Given the description of an element on the screen output the (x, y) to click on. 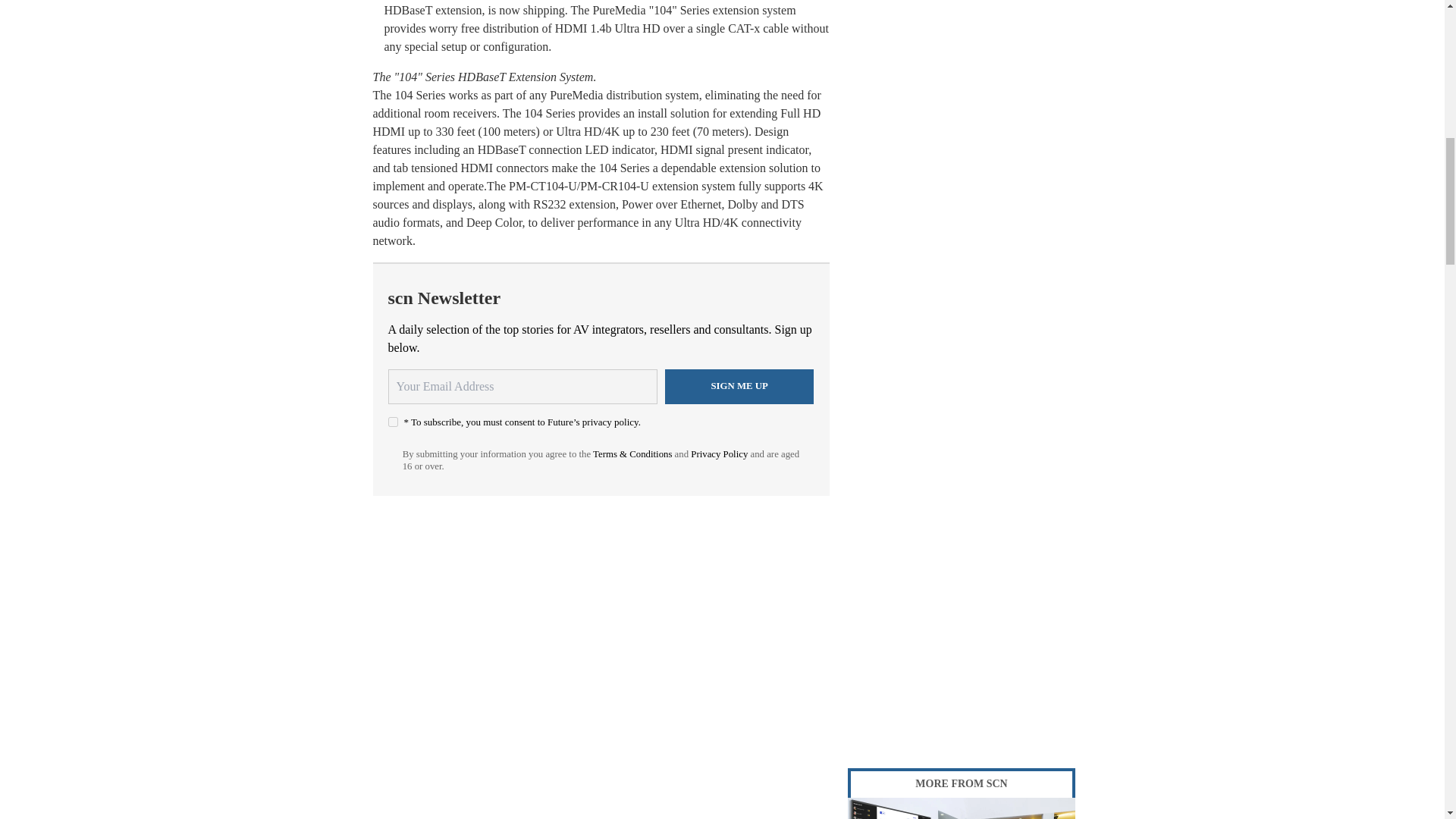
on (392, 421)
Privacy Policy (719, 453)
Startling Numbers on Hybrid Suggest More Work to Be Done (961, 808)
Sign me up (739, 386)
Sign me up (739, 386)
